Given the description of an element on the screen output the (x, y) to click on. 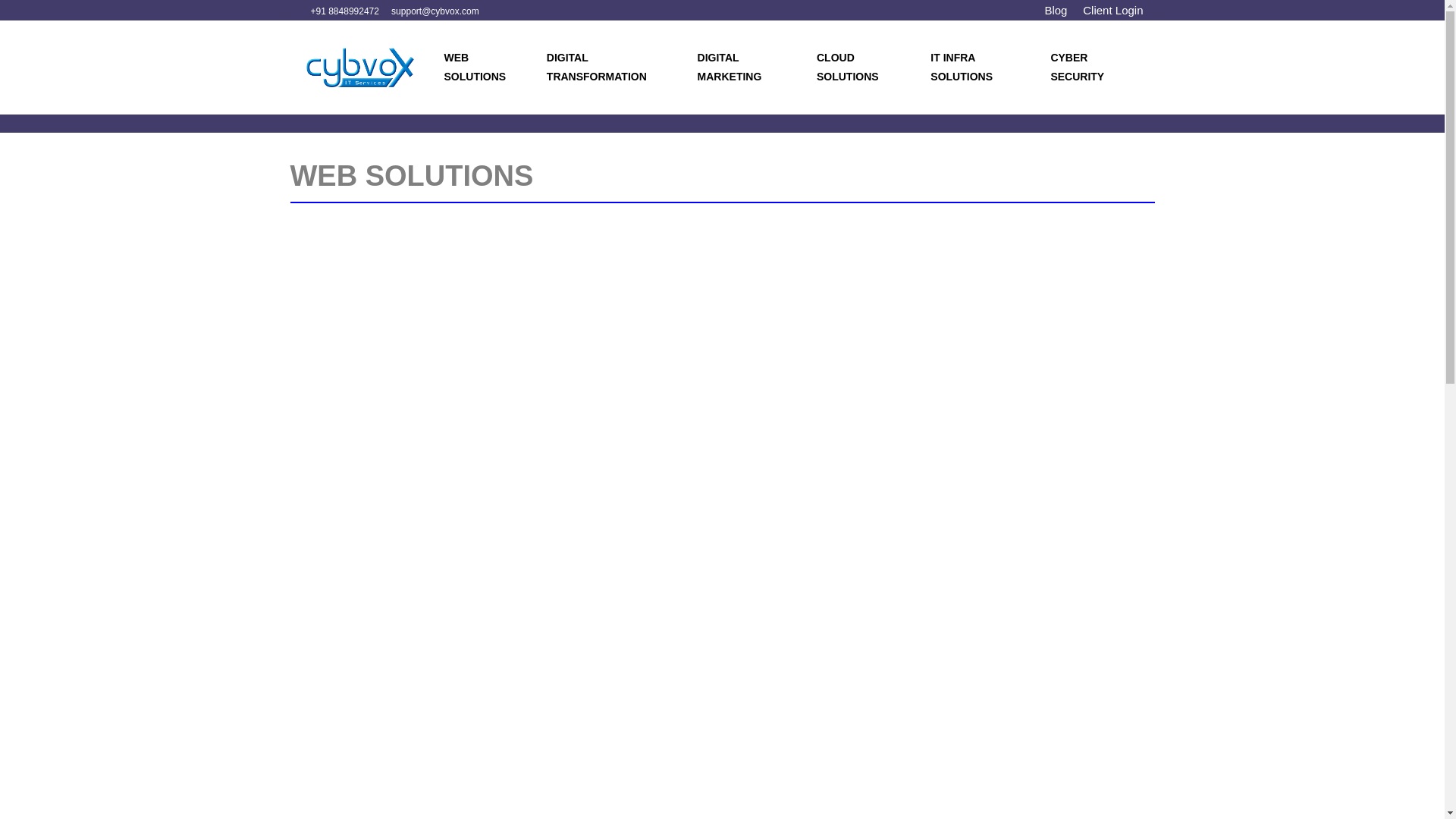
DIGITAL TRANSFORMATION (608, 67)
CYBER SECURITY (1089, 67)
CLOUD SOLUTIONS (860, 67)
IT INFRA SOLUTIONS (976, 67)
DIGITAL MARKETING (743, 67)
Client Login (1112, 10)
Blog (1056, 10)
WEB SOLUTIONS (481, 67)
